Given the description of an element on the screen output the (x, y) to click on. 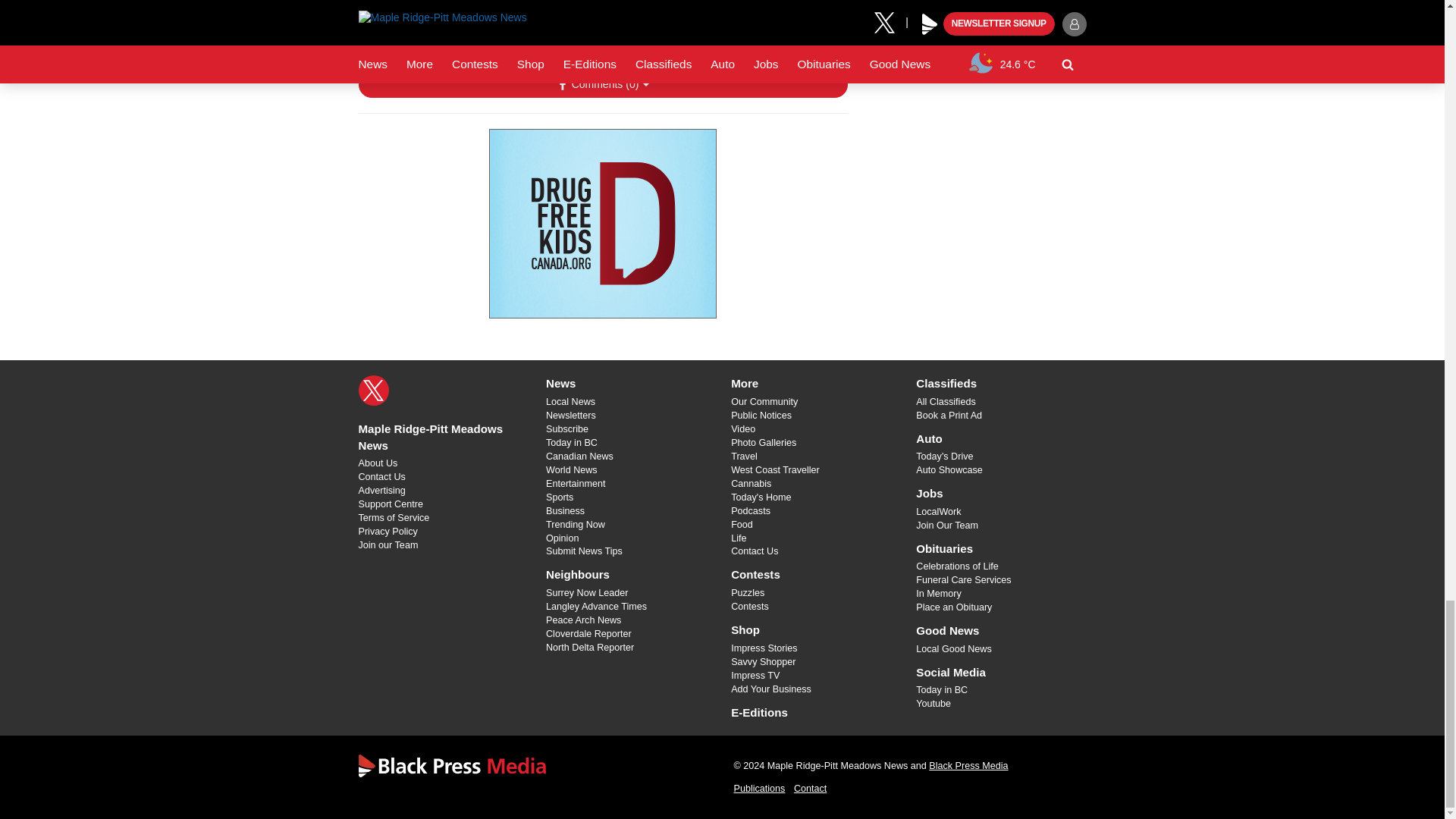
Show Comments (602, 84)
X (373, 390)
3rd party ad content (602, 223)
